Given the description of an element on the screen output the (x, y) to click on. 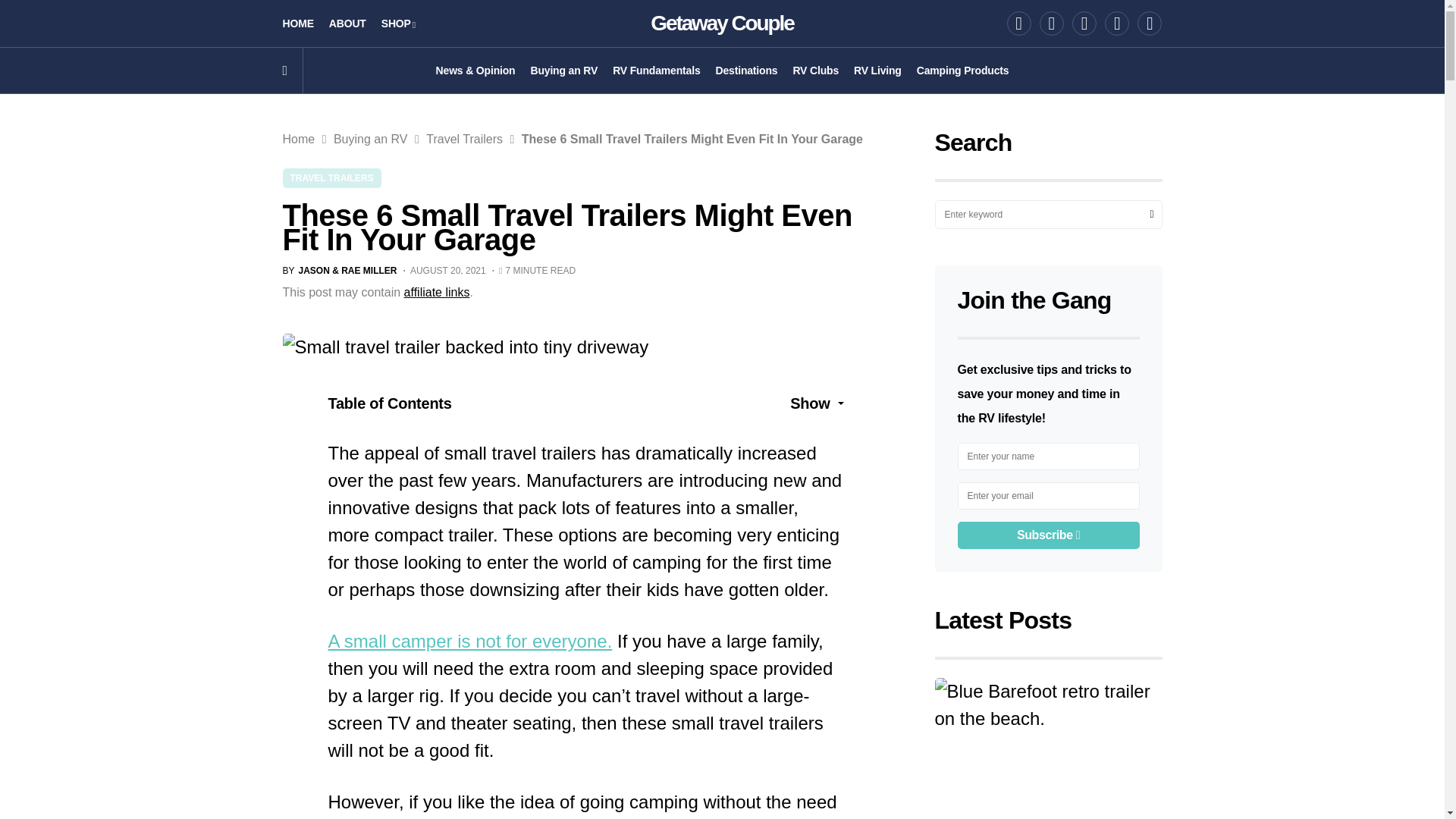
Home (298, 138)
Camping Products (963, 70)
Getaway Couple (721, 23)
RV Living (877, 70)
RV Fundamentals (656, 70)
Buying an RV (562, 70)
Destinations (746, 70)
RV Clubs (815, 70)
